Given the description of an element on the screen output the (x, y) to click on. 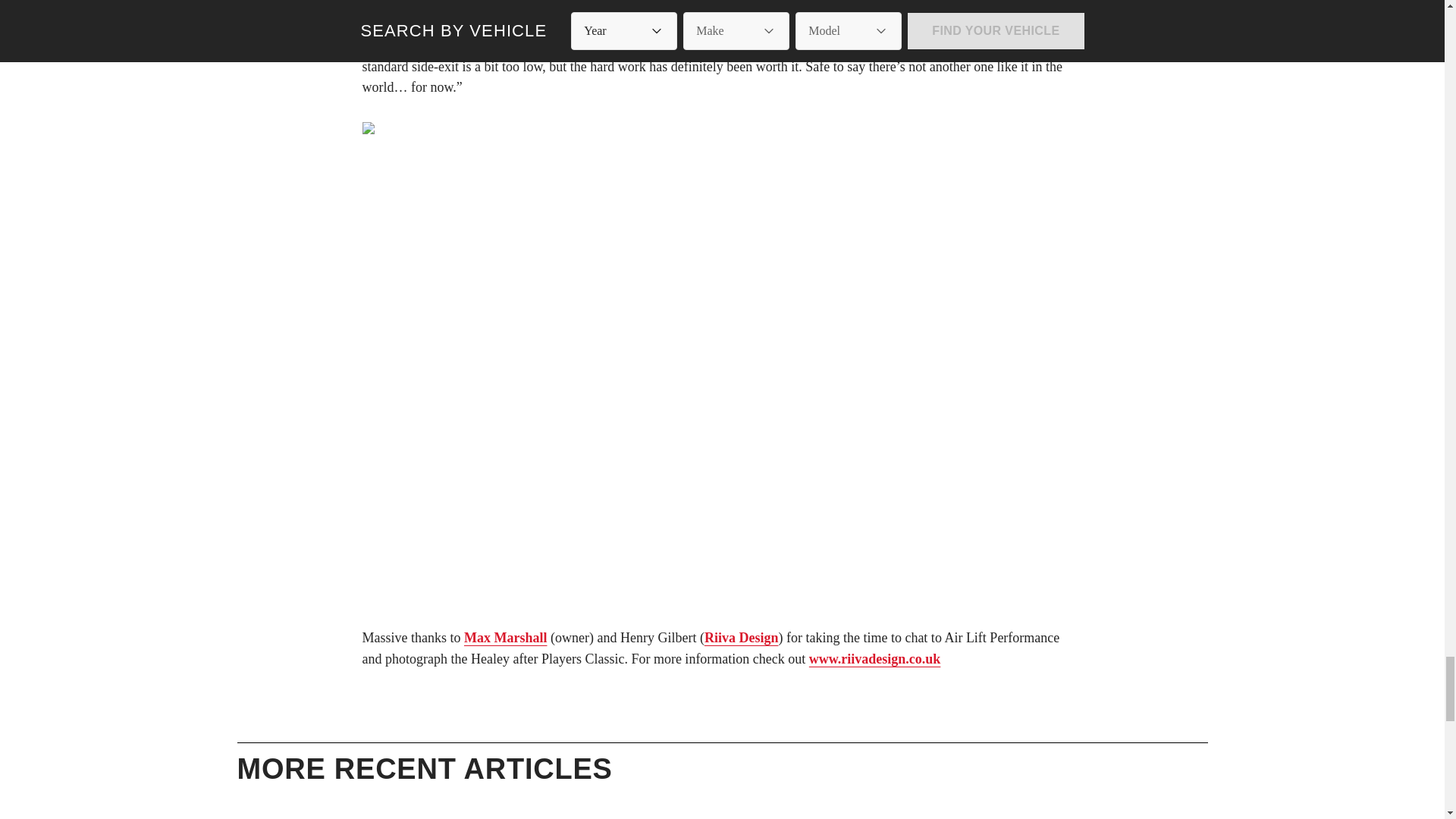
Riiva Design (741, 637)
Max Marshall (505, 637)
www.riivadesign.co.uk (874, 658)
